Given the description of an element on the screen output the (x, y) to click on. 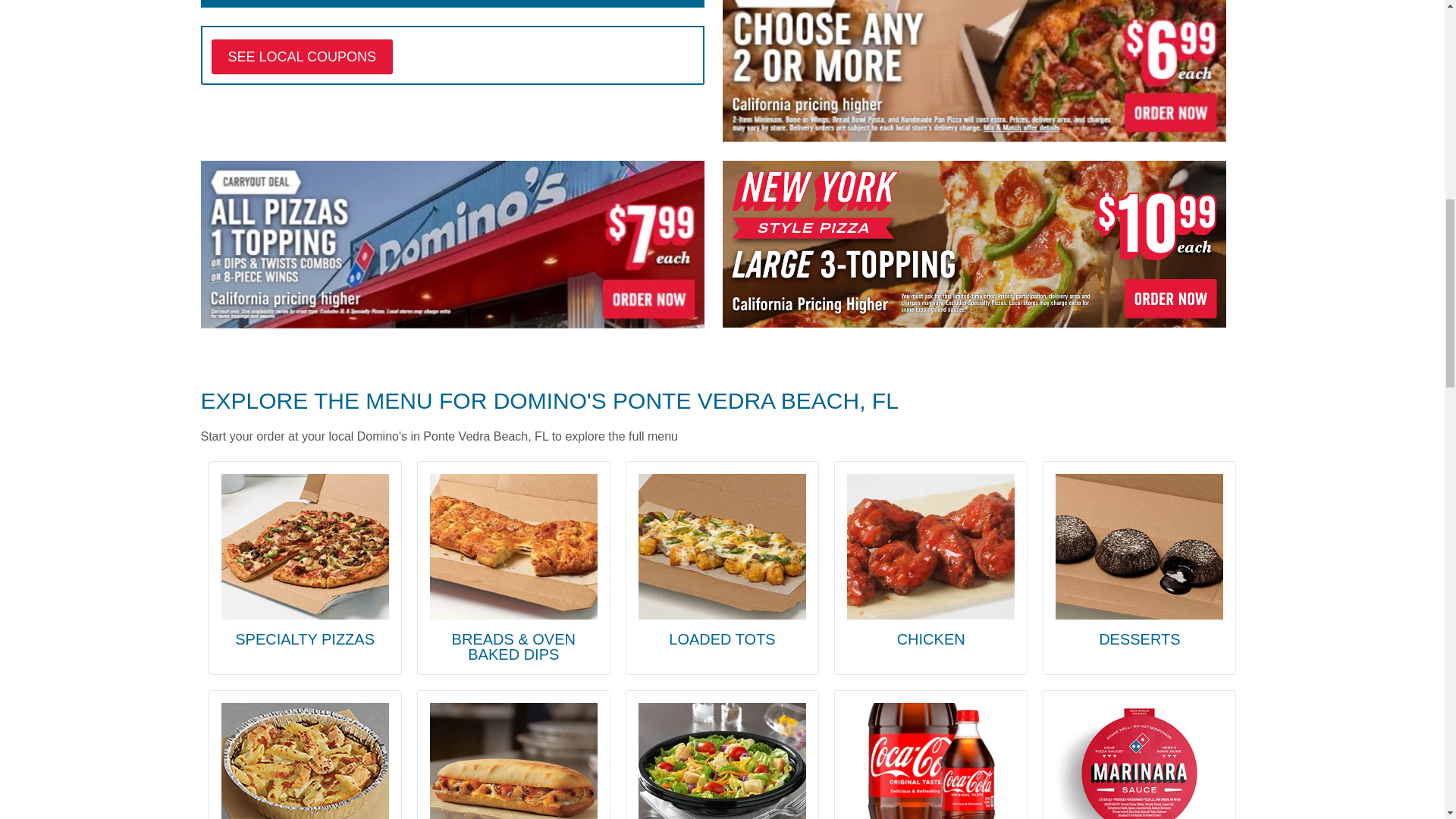
DESSERTS (1139, 559)
OVEN BAKED SANDWICHES (512, 760)
PASTAS (304, 760)
DRINKS (930, 760)
SEE LOCAL COUPONS (301, 56)
LOADED TOTS (722, 559)
SPECIALTY PIZZAS (304, 559)
SALADS (722, 760)
CHICKEN (930, 559)
